Given the description of an element on the screen output the (x, y) to click on. 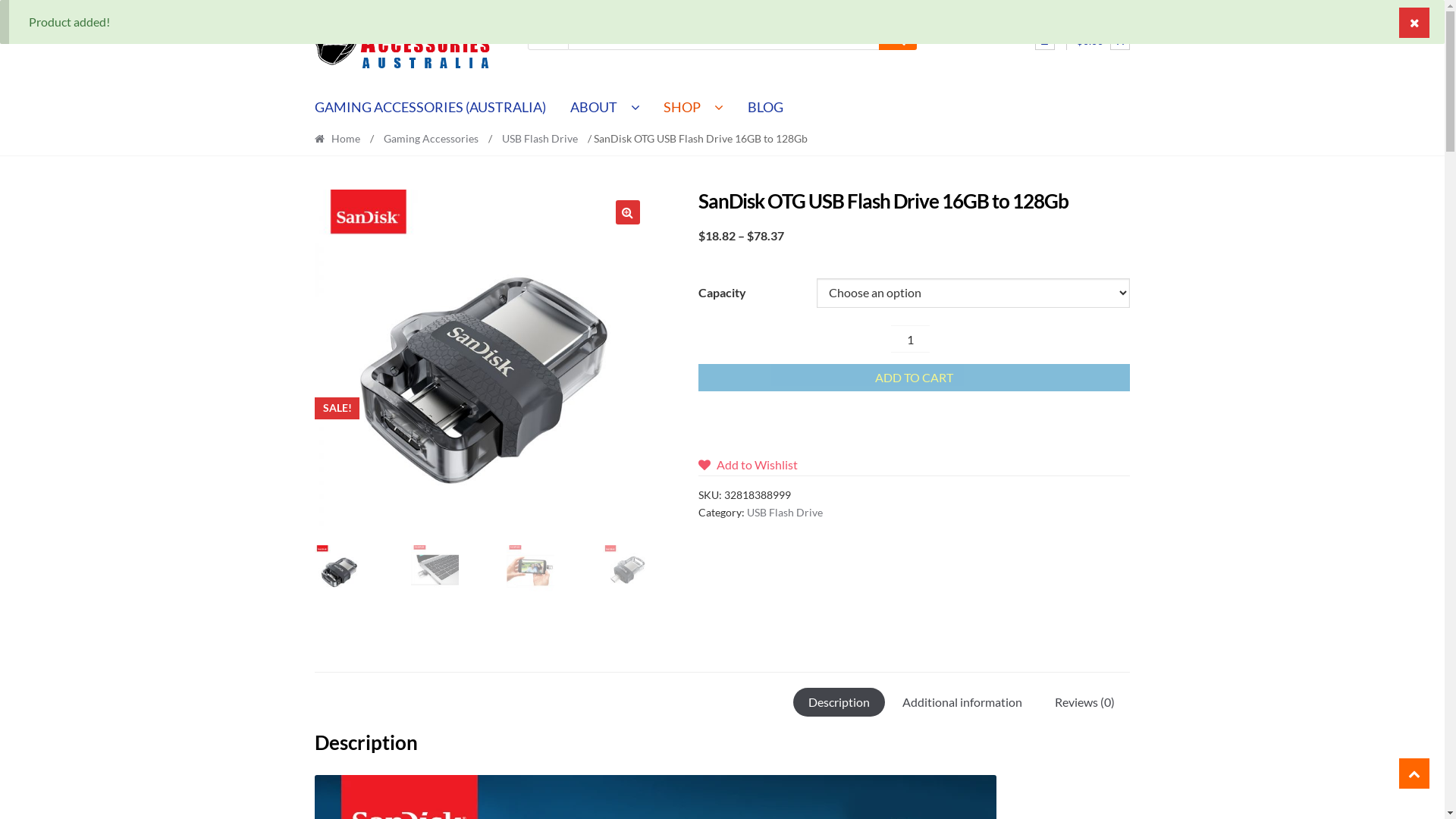
SHOP Element type: text (694, 107)
Reviews (0) Element type: text (1084, 701)
USB Flash Drive Element type: text (784, 511)
USB Flash Drive Element type: text (539, 137)
Additional information Element type: text (962, 701)
$0.00 Element type: text (1102, 41)
Description Element type: text (838, 701)
Add to Wishlist Element type: text (751, 464)
Login / Register Element type: hover (1044, 40)
2317-stv35i.jpg Element type: hover (481, 356)
Home Element type: text (340, 137)
ADD TO CART Element type: text (913, 377)
Qty Element type: hover (910, 338)
Gaming Accessories Element type: text (431, 137)
GAMING ACCESSORIES (AUSTRALIA) Element type: text (436, 107)
BLOG Element type: text (765, 107)
2317-hsitoh.jpg Element type: hover (817, 356)
ABOUT Element type: text (605, 107)
